Given the description of an element on the screen output the (x, y) to click on. 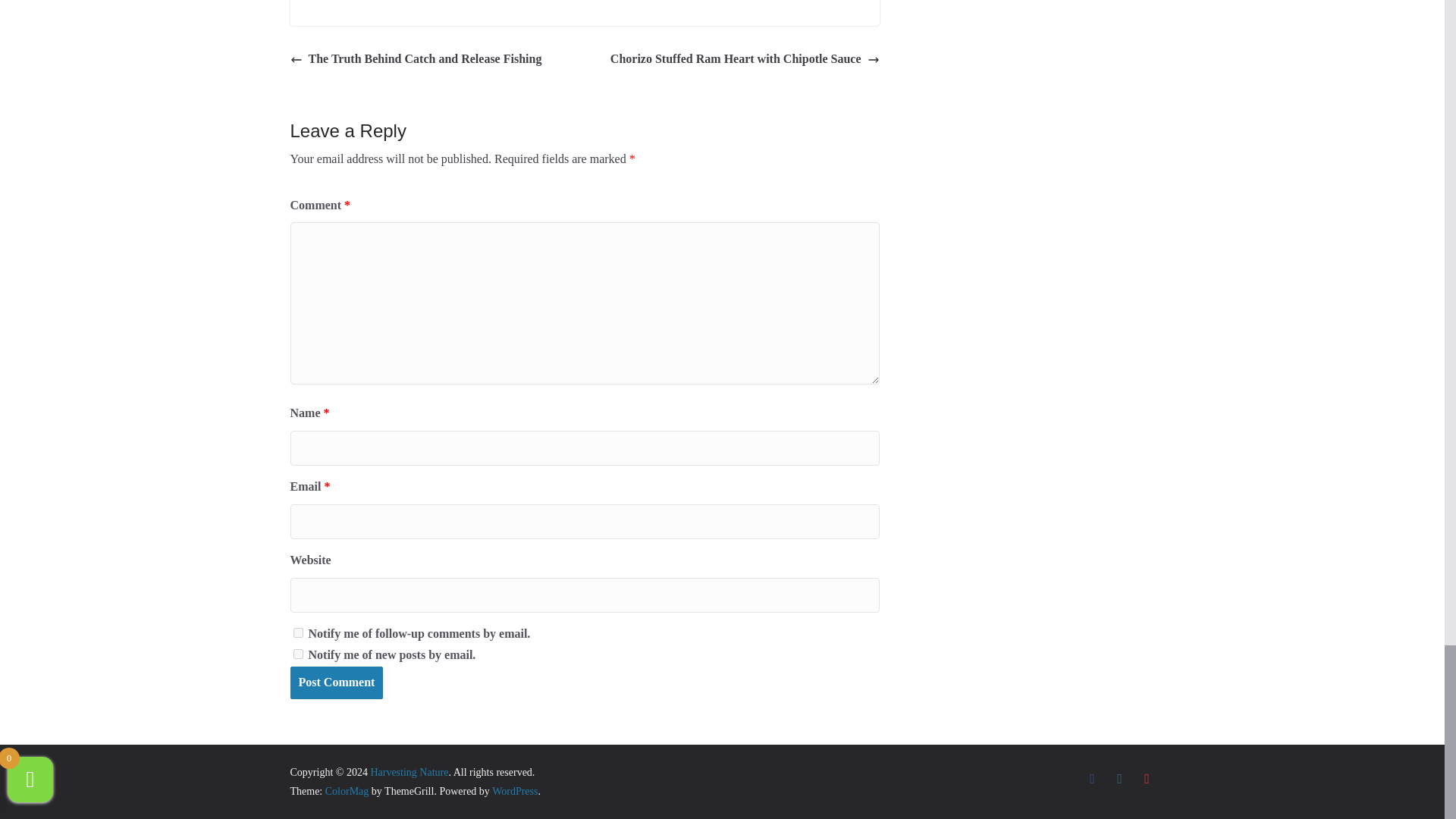
subscribe (297, 633)
subscribe (297, 654)
Post Comment (335, 682)
